Given the description of an element on the screen output the (x, y) to click on. 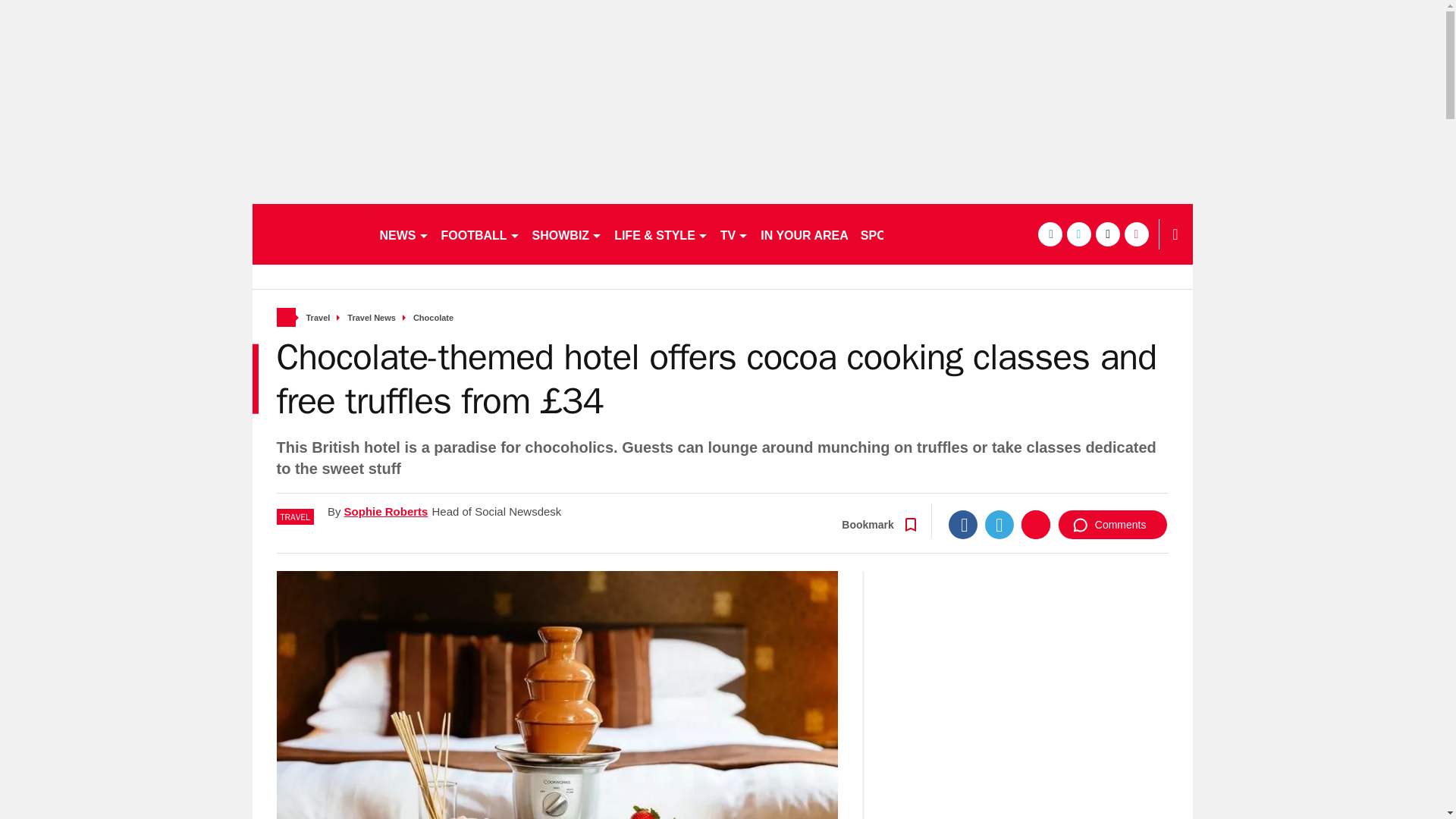
Twitter (999, 524)
Comments (1112, 524)
Facebook (962, 524)
facebook (1048, 233)
instagram (1136, 233)
FOOTBALL (480, 233)
twitter (1077, 233)
tiktok (1106, 233)
NEWS (402, 233)
dailystar (308, 233)
